Given the description of an element on the screen output the (x, y) to click on. 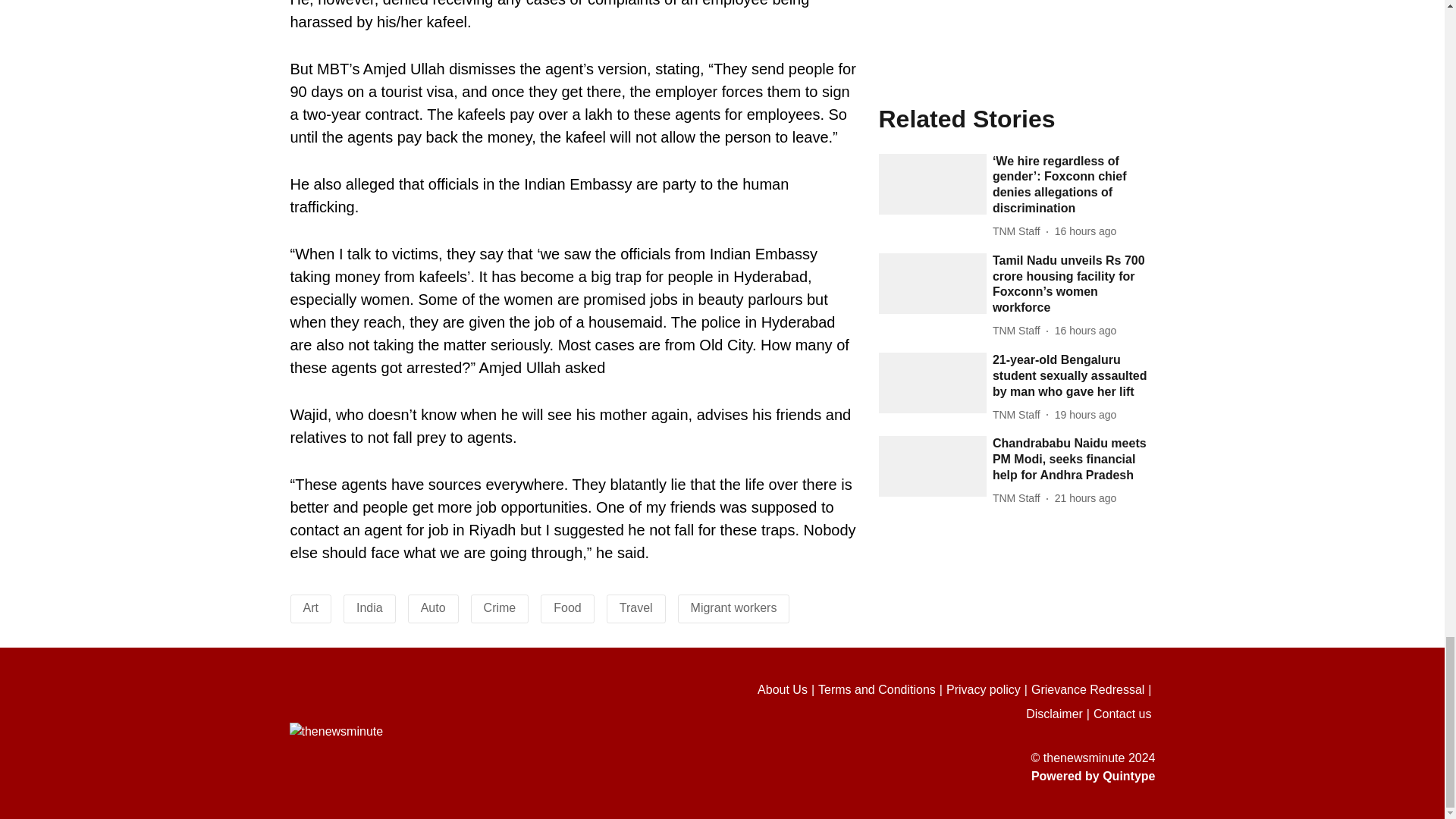
Art (310, 607)
India (369, 607)
Migrant workers (733, 607)
Travel (636, 607)
Food (566, 607)
Crime (499, 607)
Auto (432, 607)
